Given the description of an element on the screen output the (x, y) to click on. 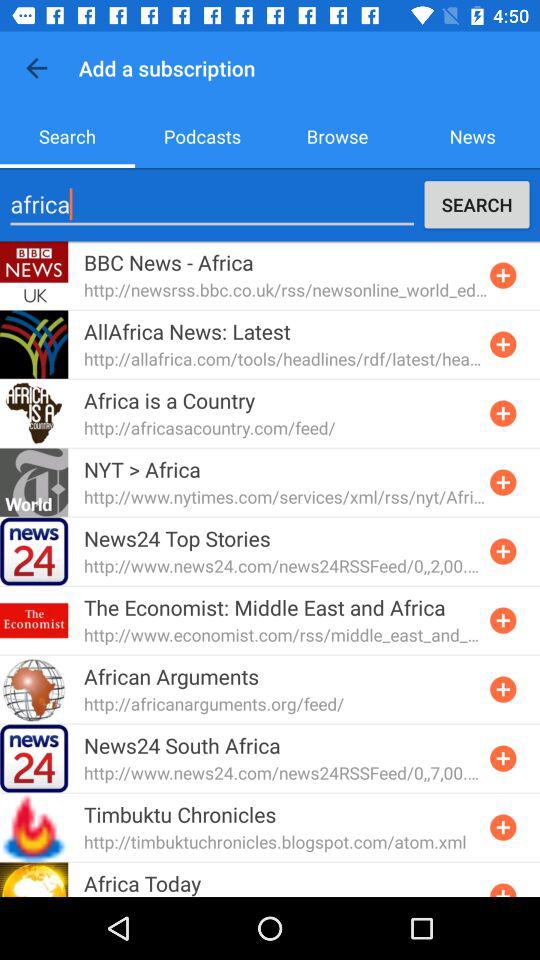
swipe until news24 top stories item (177, 538)
